Given the description of an element on the screen output the (x, y) to click on. 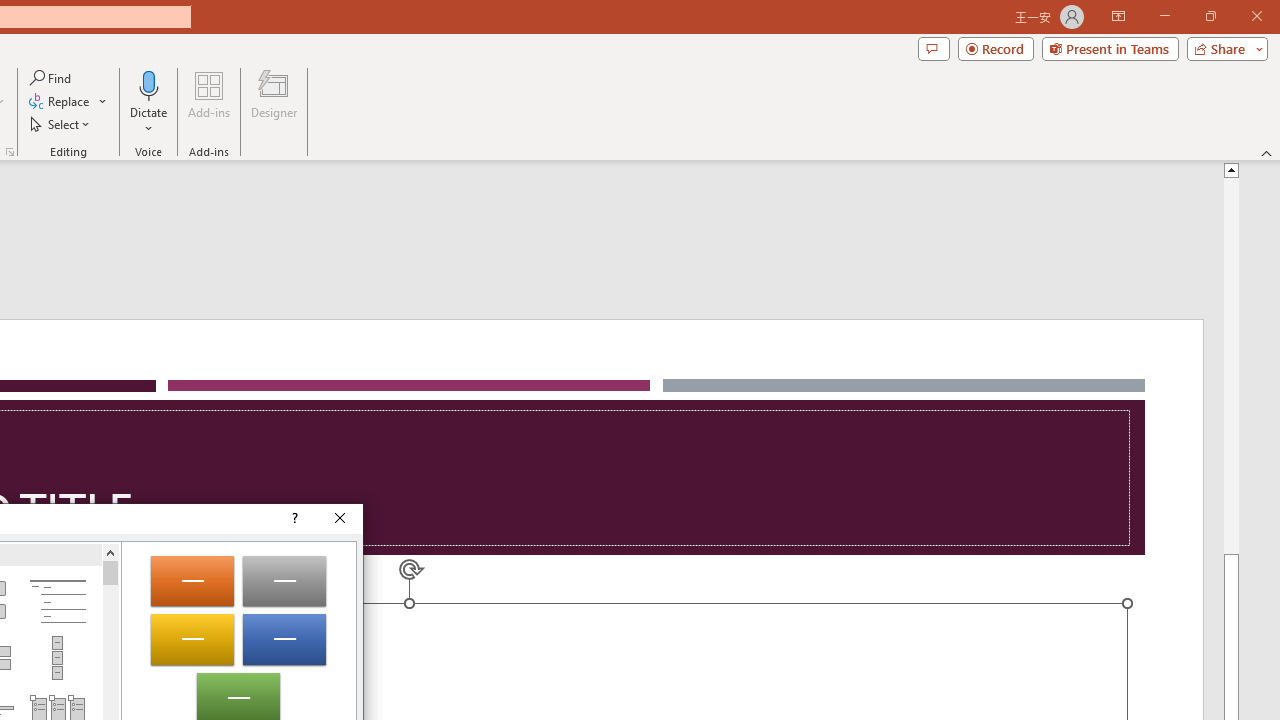
Varying Width List (57, 658)
